Given the description of an element on the screen output the (x, y) to click on. 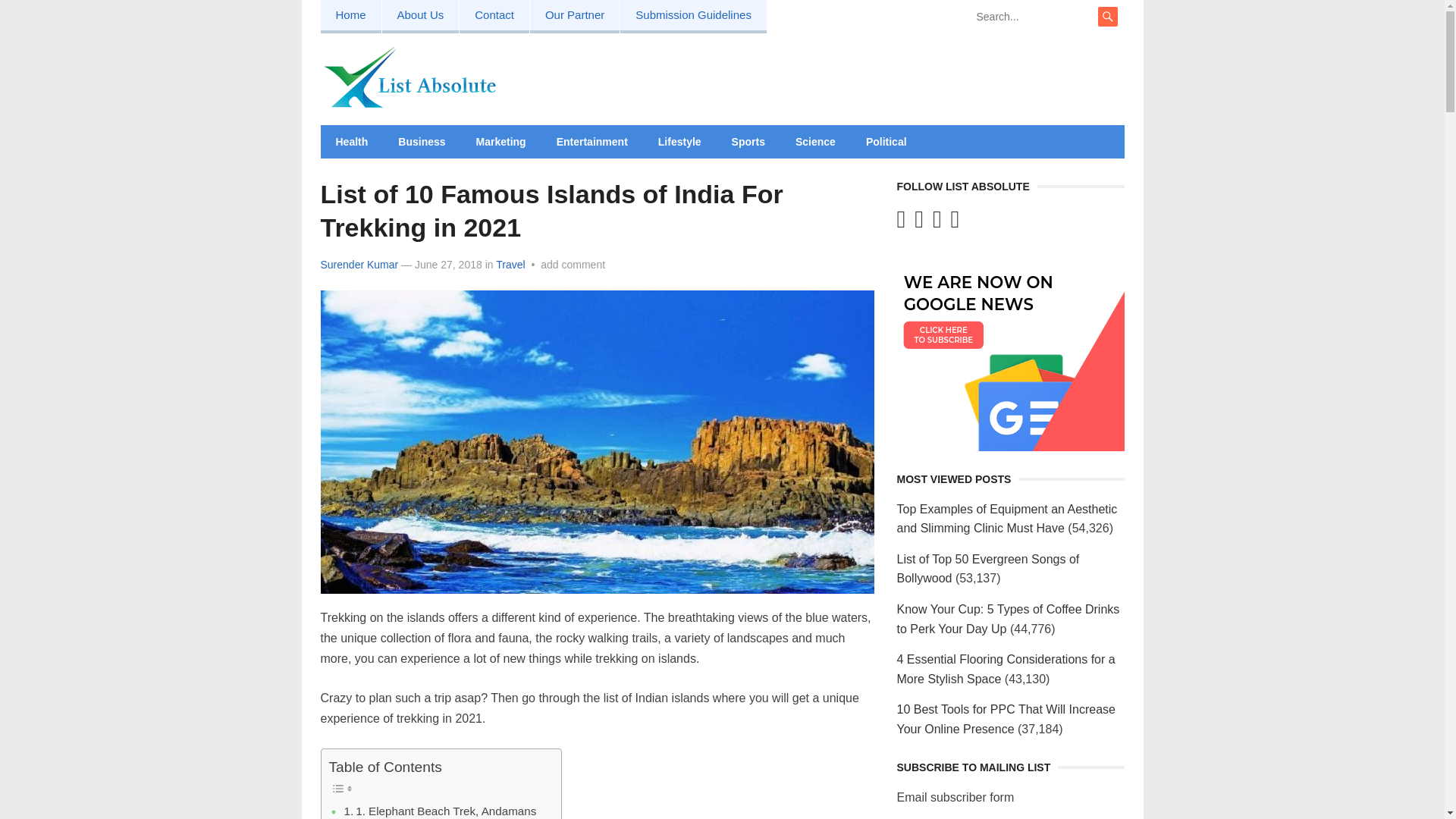
Health (351, 141)
Posts by Surender Kumar (358, 264)
Submission Guidelines (693, 16)
Contact (494, 16)
Marketing (501, 141)
Entertainment (592, 141)
Business (421, 141)
About Us (420, 16)
1. Elephant Beach Trek, Andamans (440, 810)
Lifestyle (679, 141)
Our Partner (574, 16)
Home (350, 16)
View all posts in Travel (510, 264)
